Given the description of an element on the screen output the (x, y) to click on. 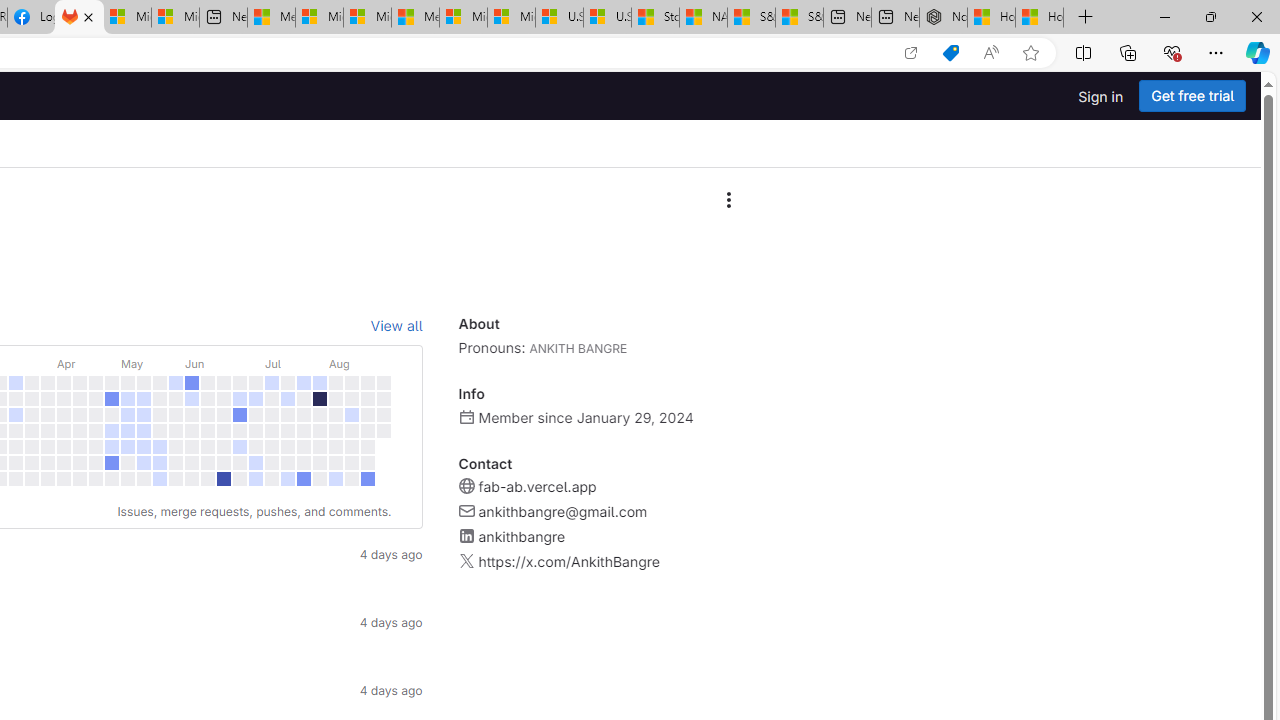
Get free trial (1192, 95)
View all (395, 325)
